Given the description of an element on the screen output the (x, y) to click on. 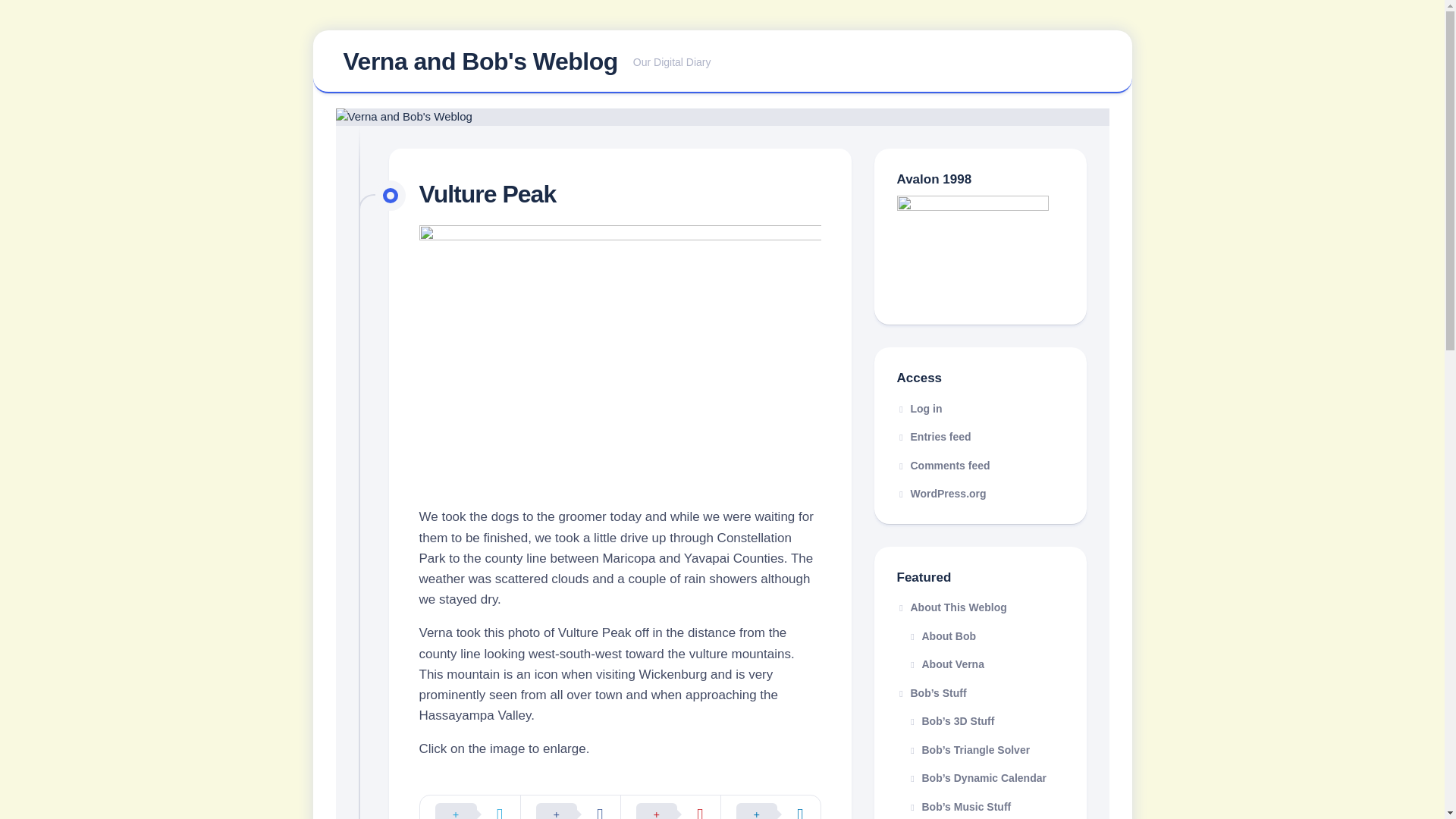
WordPress.org (940, 493)
Entries feed (933, 436)
Share on LinkedIn (770, 807)
Share on X (469, 807)
About Bob (979, 635)
Verna and Bob's Weblog (479, 61)
Share on Pinterest (670, 807)
About Verna (979, 664)
Comments feed (943, 465)
Log in (919, 408)
Share on Facebook (569, 807)
About This Weblog (722, 62)
